Given the description of an element on the screen output the (x, y) to click on. 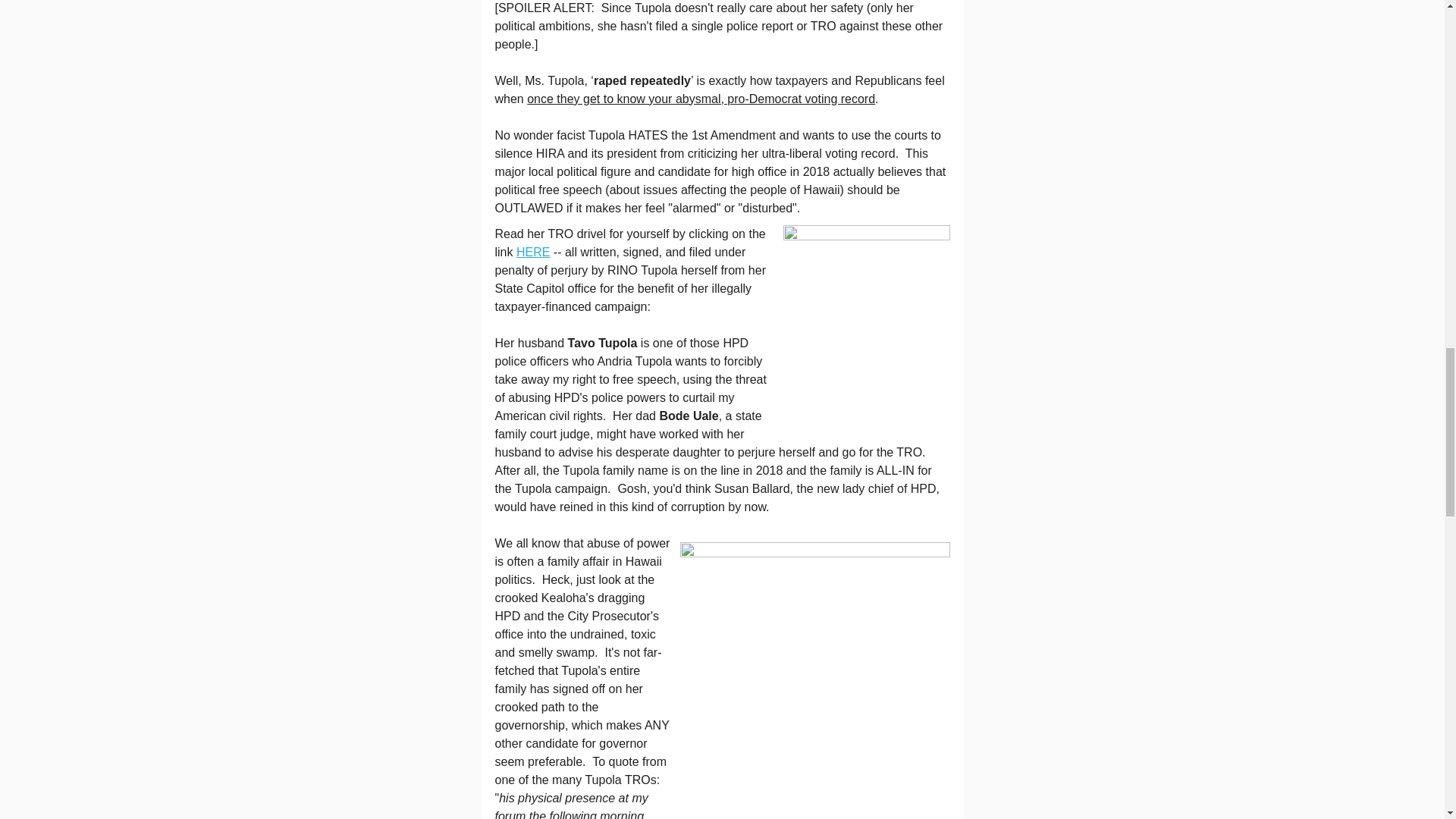
HERE (533, 251)
